Given the description of an element on the screen output the (x, y) to click on. 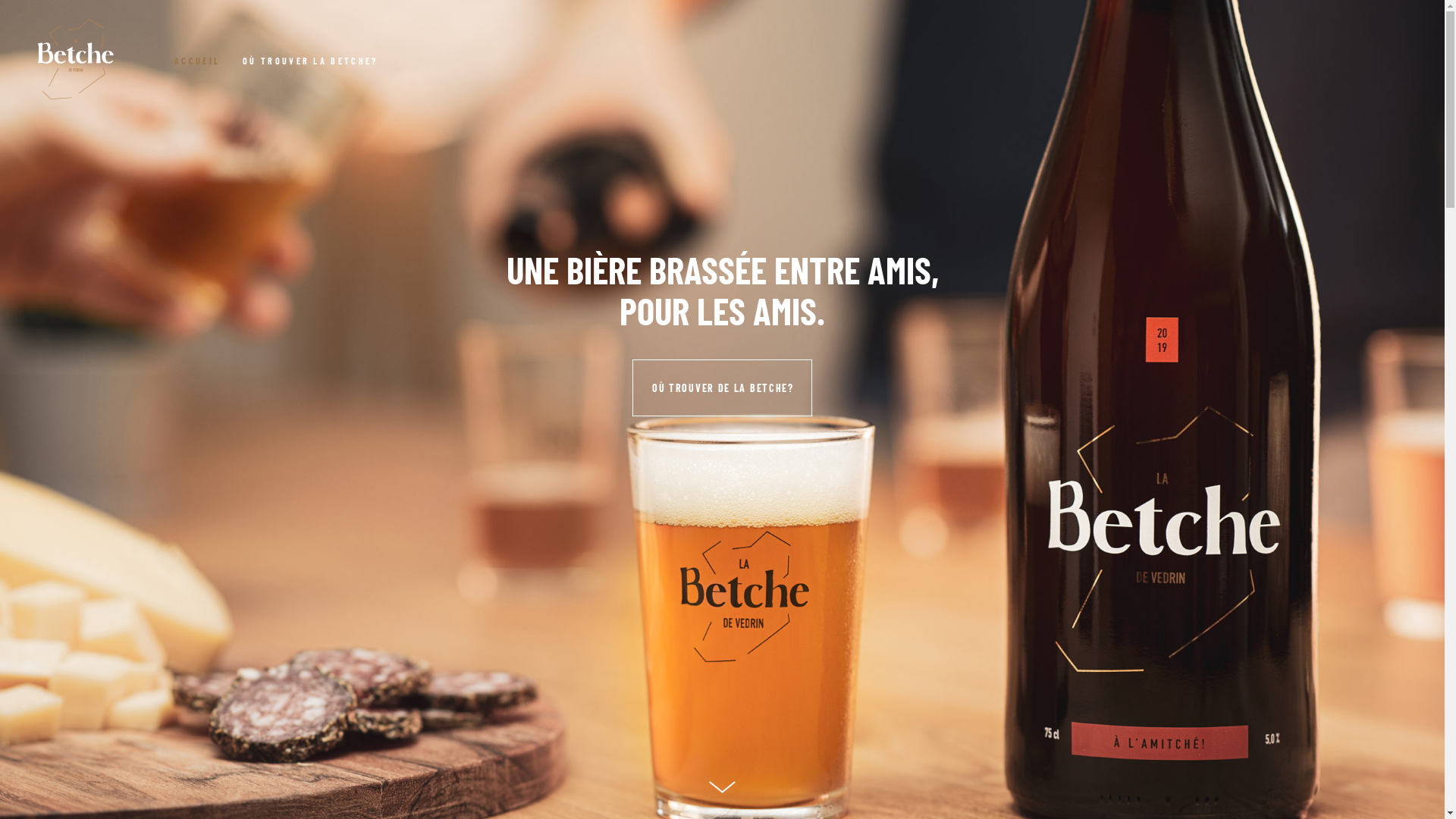
ACCUEIL Element type: text (208, 58)
